Given the description of an element on the screen output the (x, y) to click on. 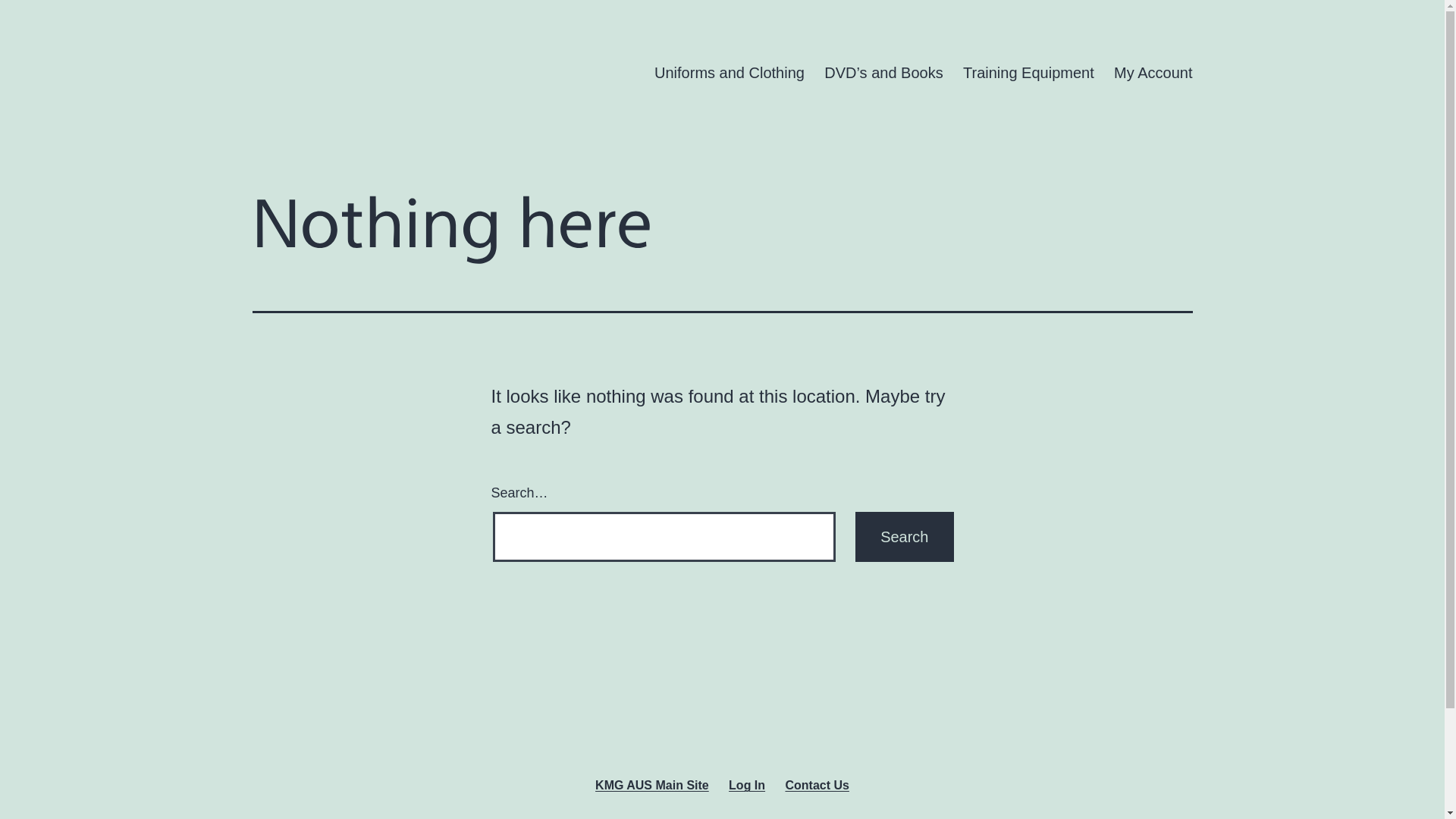
Contact Us Element type: text (817, 784)
Search Element type: text (904, 536)
My Account Element type: text (1153, 72)
Log In Element type: text (746, 784)
Training Equipment Element type: text (1028, 72)
Uniforms and Clothing Element type: text (729, 72)
KMG AUS Main Site Element type: text (651, 784)
